Given the description of an element on the screen output the (x, y) to click on. 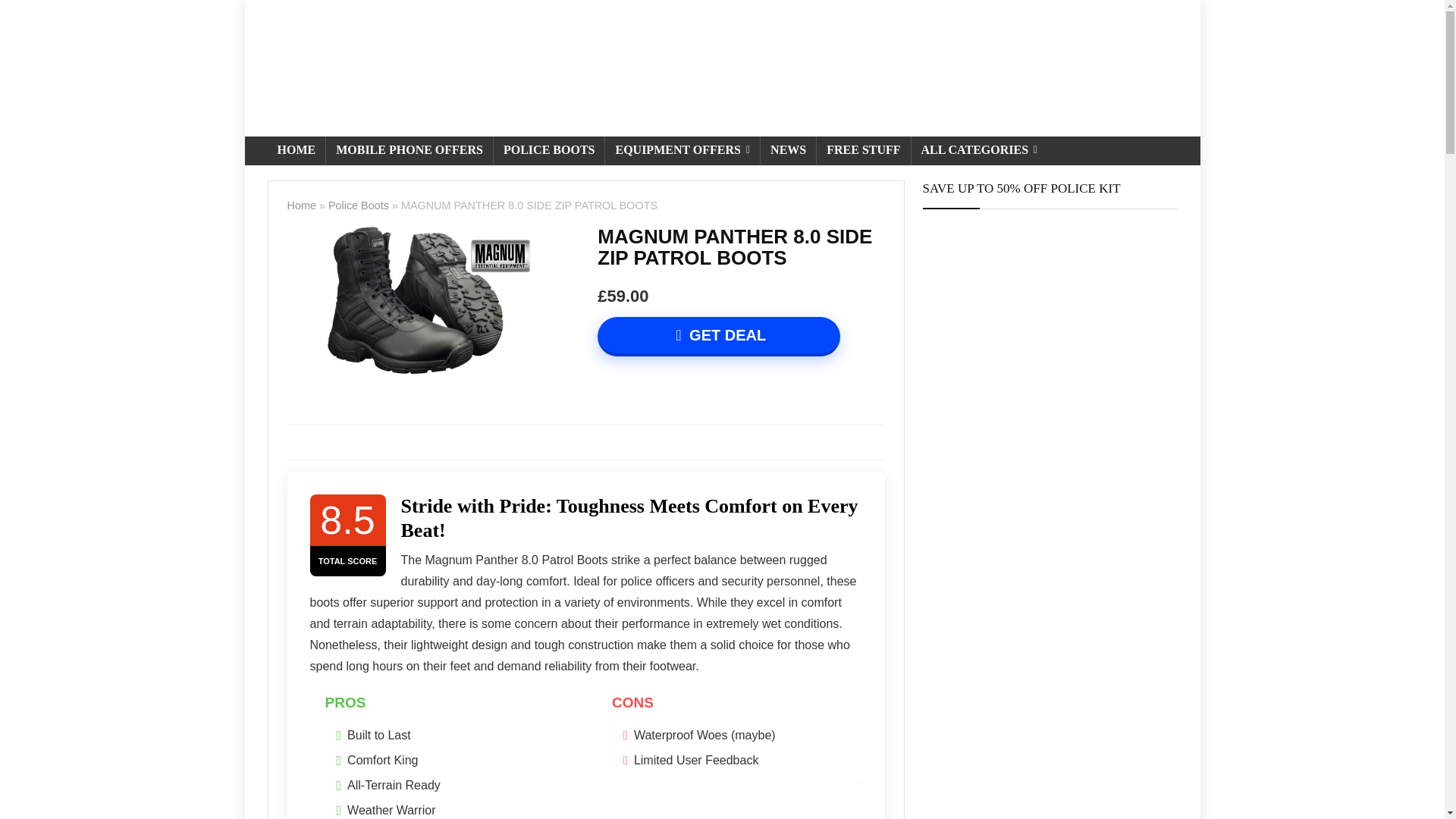
ALL CATEGORIES (979, 150)
NEWS (787, 150)
MOBILE PHONE OFFERS (409, 150)
FREE STUFF (863, 150)
EQUIPMENT OFFERS (682, 150)
HOME (295, 150)
POLICE BOOTS (548, 150)
